Given the description of an element on the screen output the (x, y) to click on. 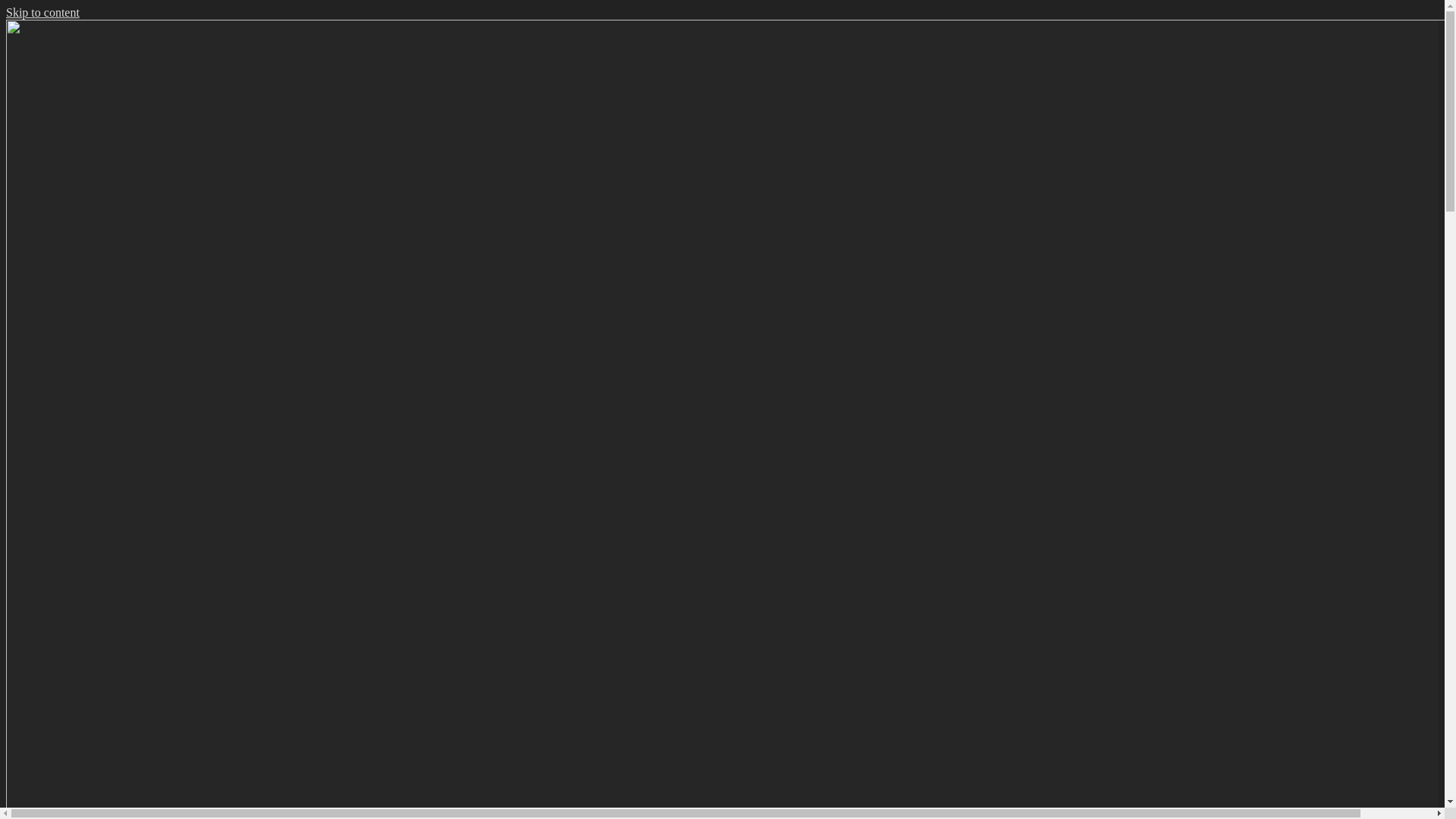
Skip to content Element type: text (42, 12)
